Given the description of an element on the screen output the (x, y) to click on. 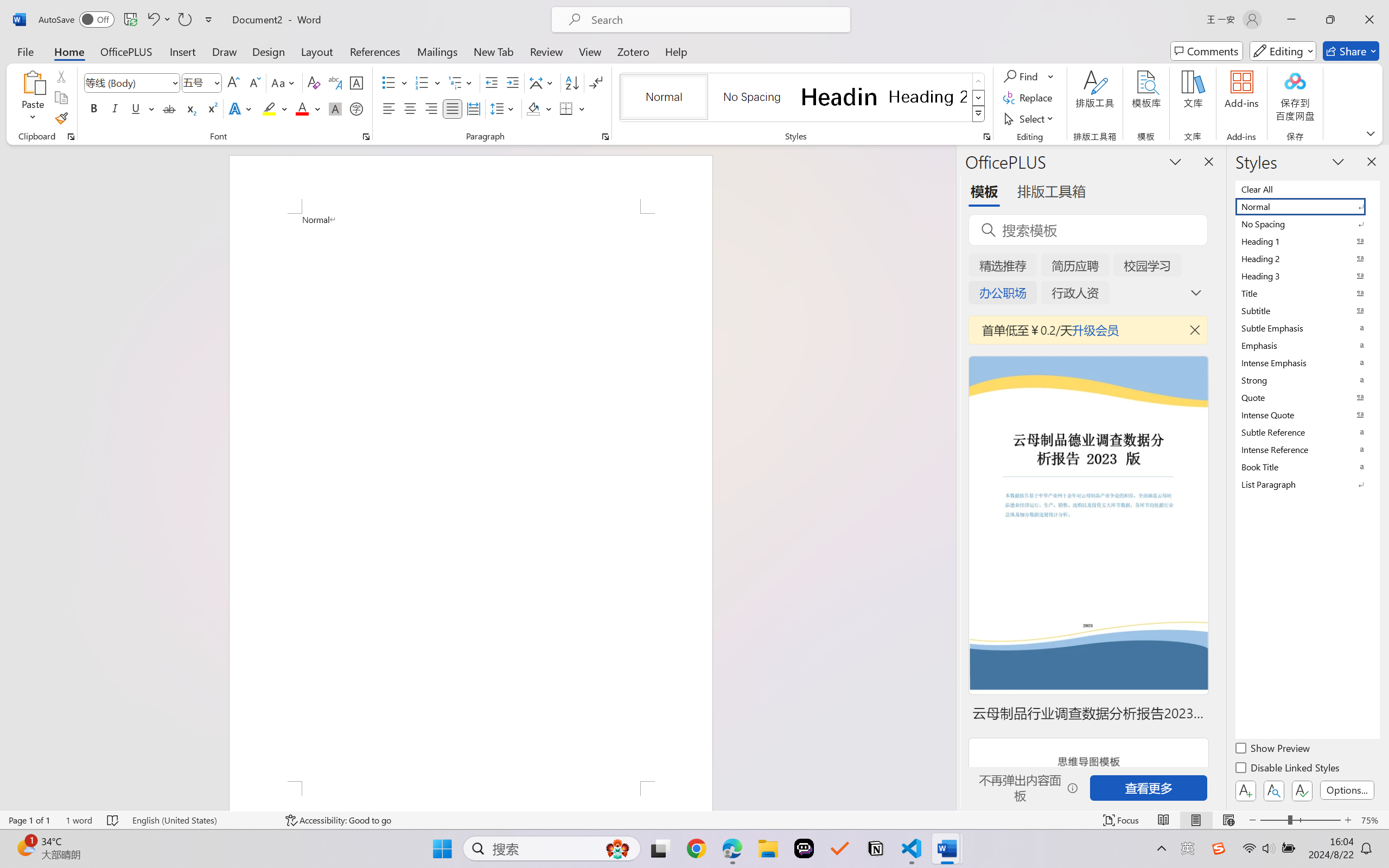
Ribbon Display Options (1370, 132)
Zoom In (1348, 819)
AutomationID: DynamicSearchBoxGleamImage (617, 848)
Select (1030, 118)
Review (546, 51)
AutoSave (76, 19)
Page Number Page 1 of 1 (29, 819)
Font Size (201, 82)
Font... (365, 136)
Heading 1 (839, 96)
Phonetic Guide... (334, 82)
